Given the description of an element on the screen output the (x, y) to click on. 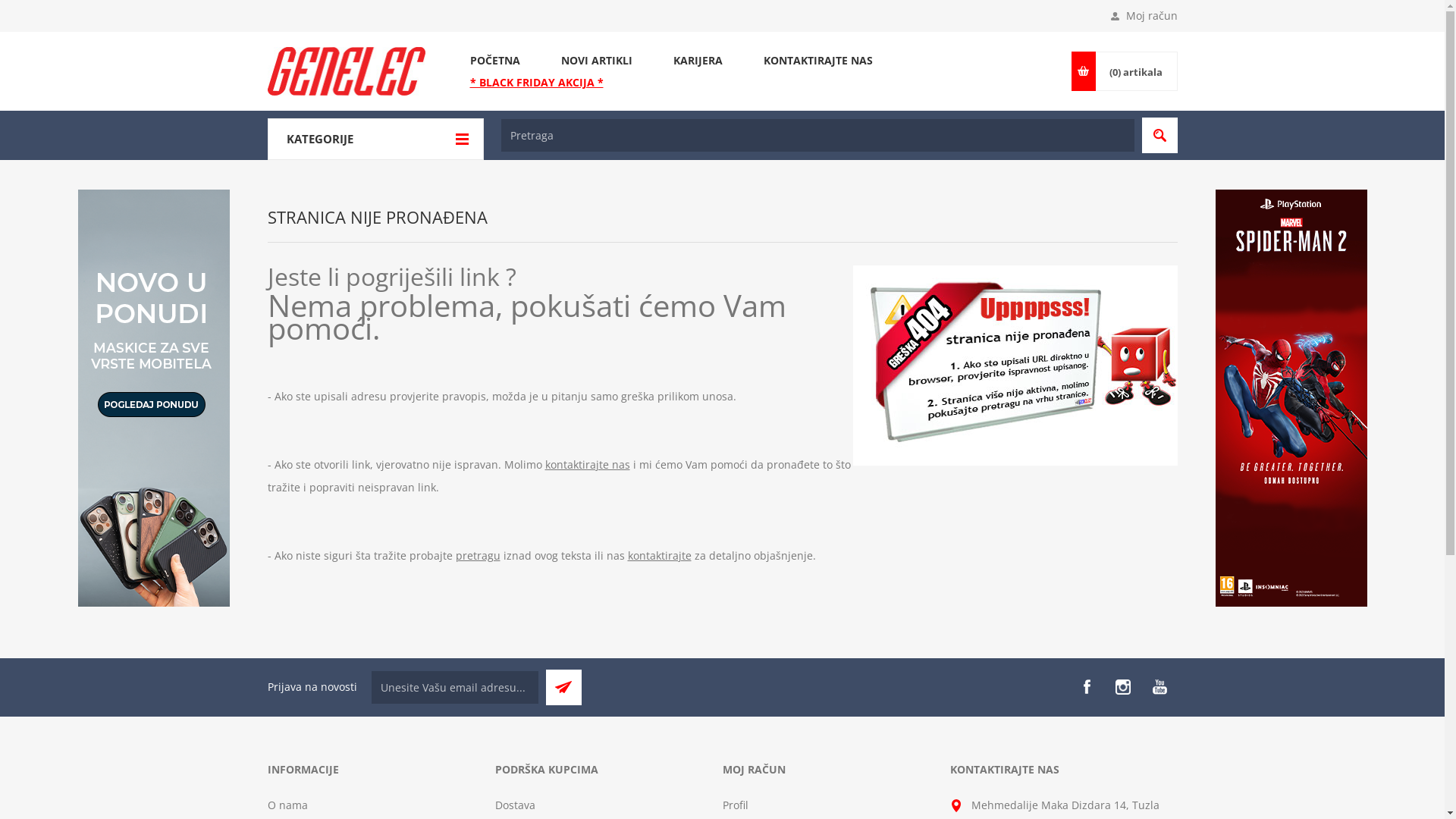
NOVI ARTIKLI Element type: text (595, 60)
pretragu Element type: text (477, 555)
kontaktirajte Element type: text (659, 555)
* BLACK FRIDAY AKCIJA * Element type: text (535, 82)
(0) artikala Element type: text (1136, 71)
KONTAKTIRAJTE NAS Element type: text (818, 60)
404 Element type: hover (1014, 365)
KARIJERA Element type: text (697, 60)
kontaktirajte nas Element type: text (586, 464)
O nama Element type: text (286, 804)
Dostava Element type: text (514, 804)
Profil Element type: text (734, 804)
Search Element type: text (1159, 135)
